Given the description of an element on the screen output the (x, y) to click on. 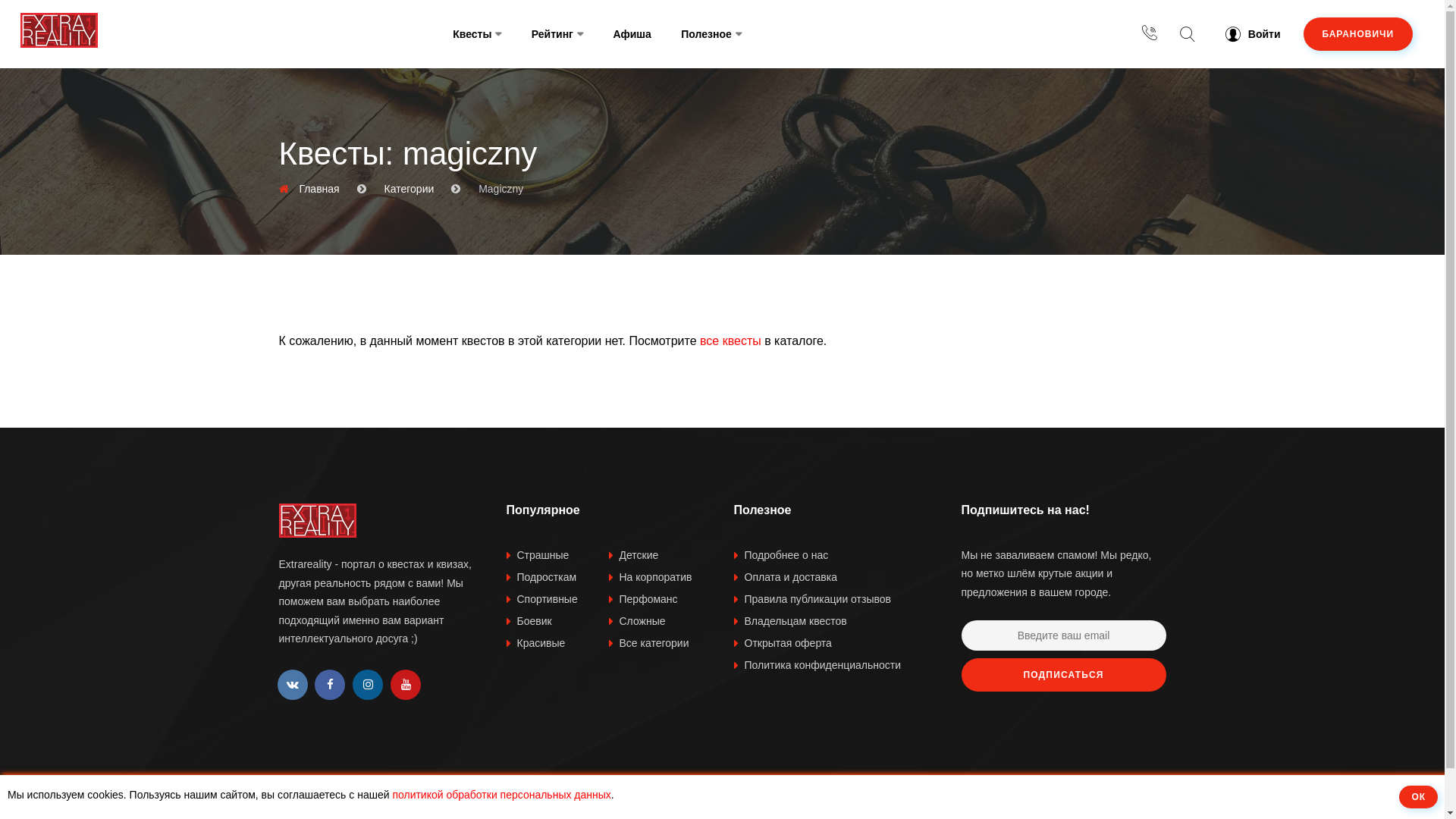
Extrareality Youtube Element type: hover (405, 684)
Extrareality Facebook page Element type: hover (329, 684)
Extrareality Instagram Element type: hover (367, 684)
